Given the description of an element on the screen output the (x, y) to click on. 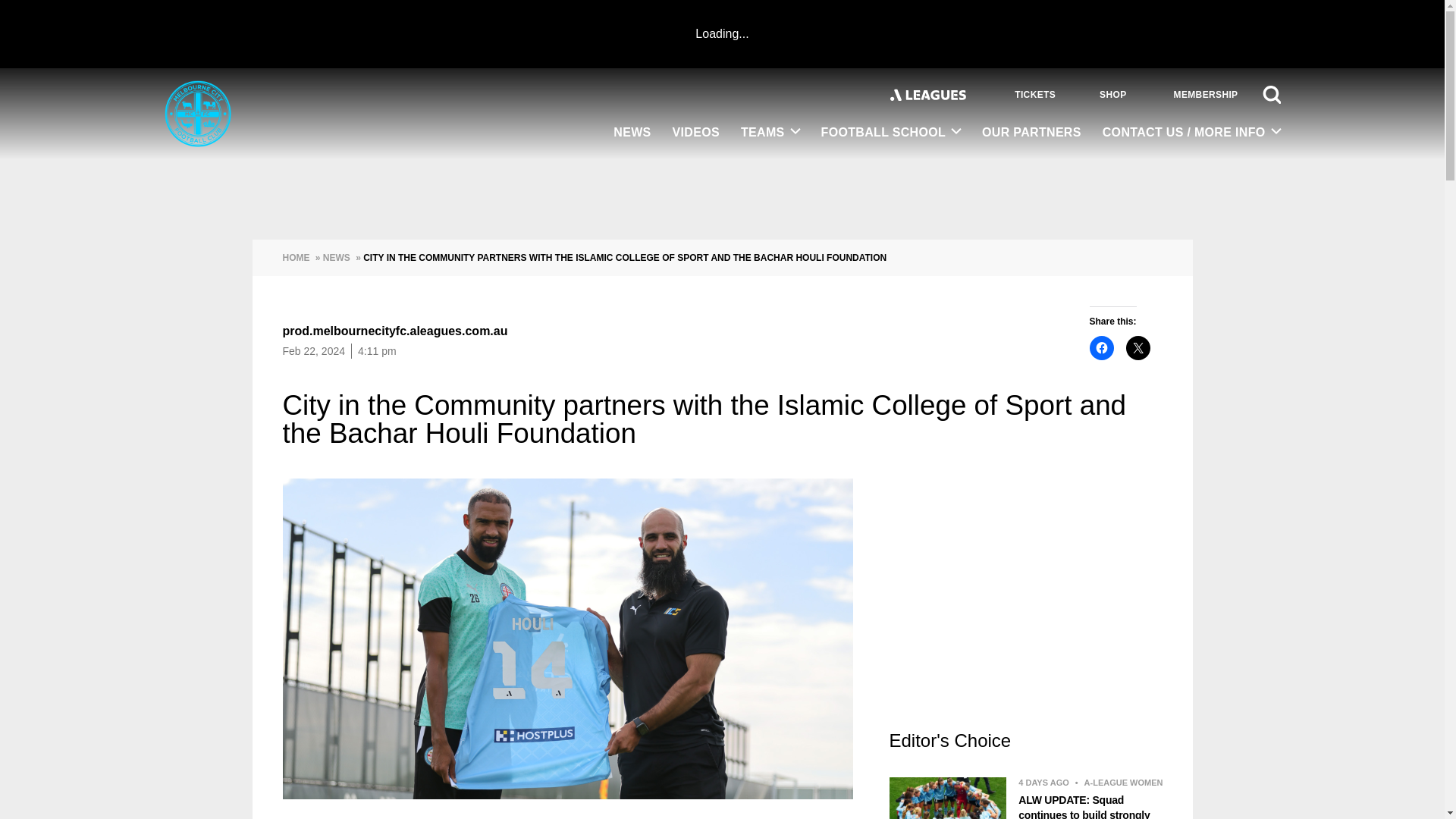
VIDEOS (696, 133)
OUR PARTNERS (1031, 133)
FOOTBALL SCHOOL (891, 132)
TEAMS (770, 132)
Click to share on X (1137, 347)
NEWS (631, 133)
Click to share on Facebook (1101, 347)
